Given the description of an element on the screen output the (x, y) to click on. 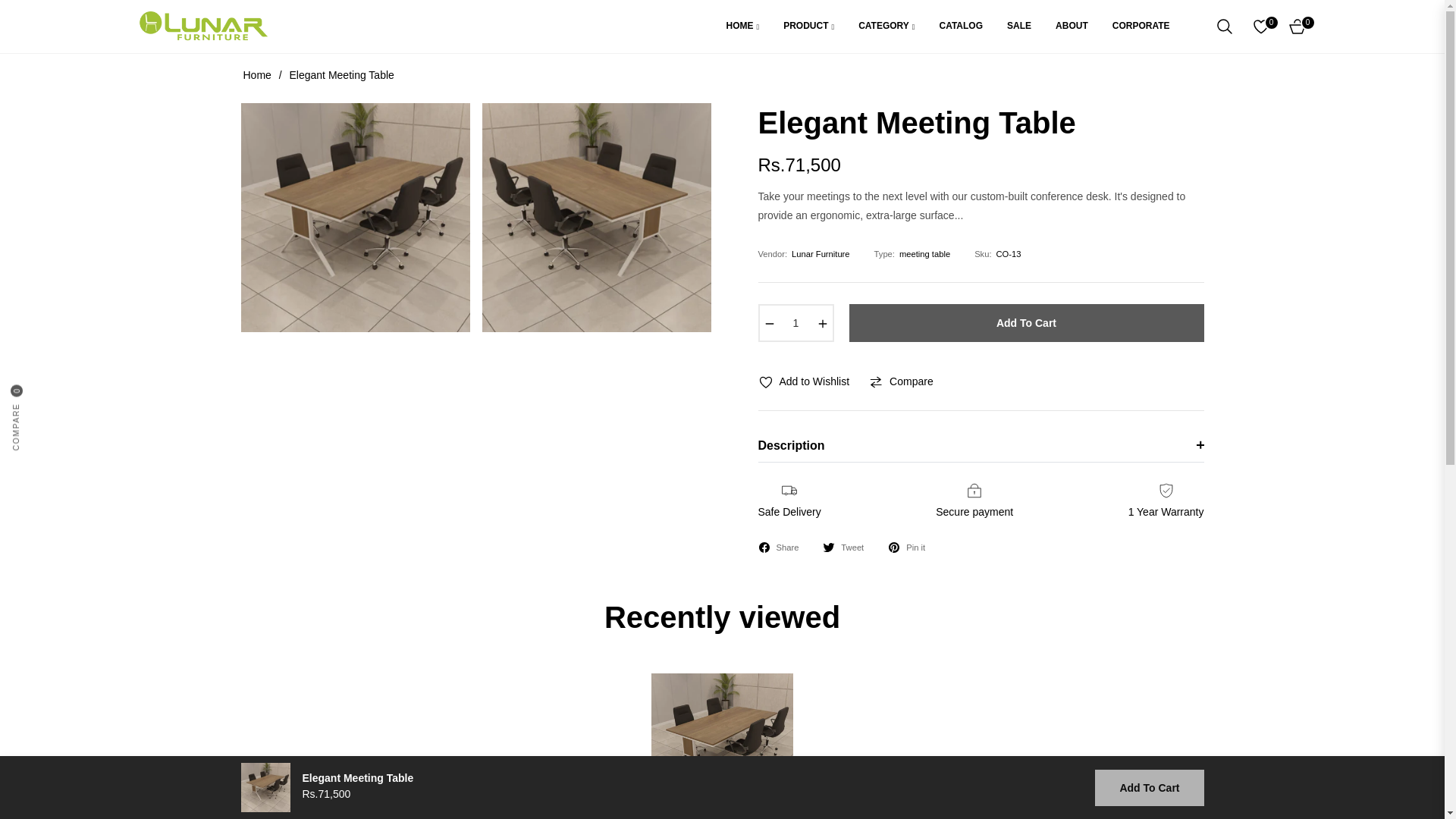
Add to Wishlist (804, 381)
Share  (778, 547)
Pin it (906, 547)
Your Cart (1296, 26)
SALE (1018, 26)
Tweet  (842, 547)
Compare (46, 388)
PRODUCT (808, 26)
ABOUT (1071, 26)
1 (796, 322)
